Given the description of an element on the screen output the (x, y) to click on. 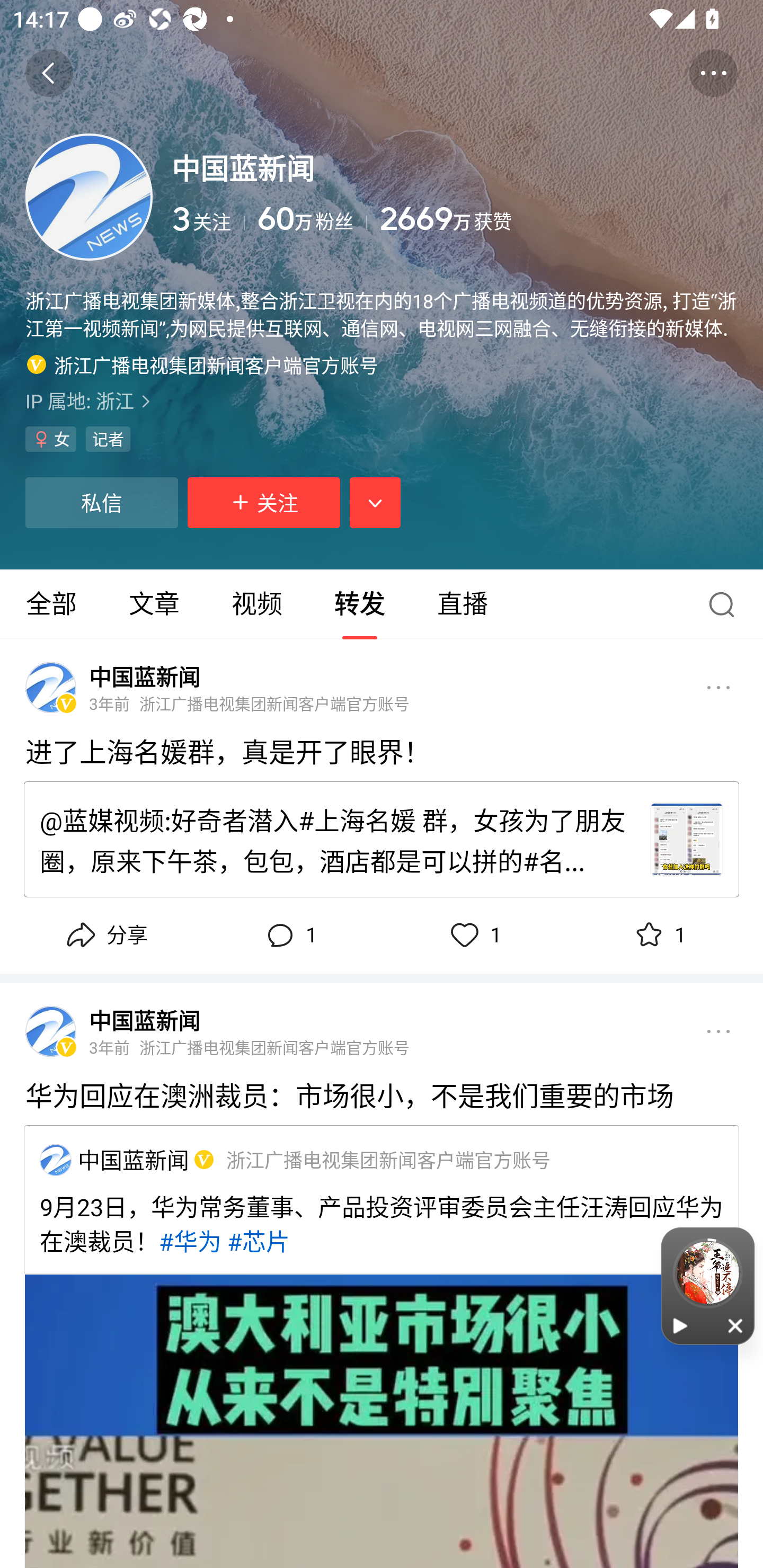
返回 (49, 72)
更多操作 (713, 72)
头像 (88, 196)
3 关注 (207, 219)
60万 粉丝 (311, 219)
2669万 获赞 (558, 219)
浙江广播电视集团新闻客户端官方账号 (202, 364)
IP 属地: 浙江 (381, 400)
性别女 女 (50, 438)
记者 (107, 438)
私信 (101, 502)
     关注 (263, 502)
展开相关推荐，按钮 (374, 502)
全部 (51, 604)
文章 (154, 604)
视频 (256, 604)
转发 (359, 604)
直播 (462, 604)
搜索 (726, 604)
中国蓝新闻 (144, 676)
头像 (50, 687)
更多 (718, 687)
@蓝媒视频:好奇者潜入#上海名媛 群，女孩为了朋友圈，原来下午茶，包包，酒店都是可以拼的#名... (381, 838)
分享 (104, 934)
评论,1 1 (288, 934)
收藏,1 1 (658, 934)
中国蓝新闻 (144, 1019)
头像 (50, 1031)
更多 (718, 1031)
中国蓝新闻 (55, 1160)
中国蓝新闻 (133, 1159)
 [1] (201, 1159)
浙江广播电视集团新闻客户端官方账号 (388, 1159)
播放 关闭 (708, 1286)
播放 (680, 1325)
关闭 (736, 1325)
